Given the description of an element on the screen output the (x, y) to click on. 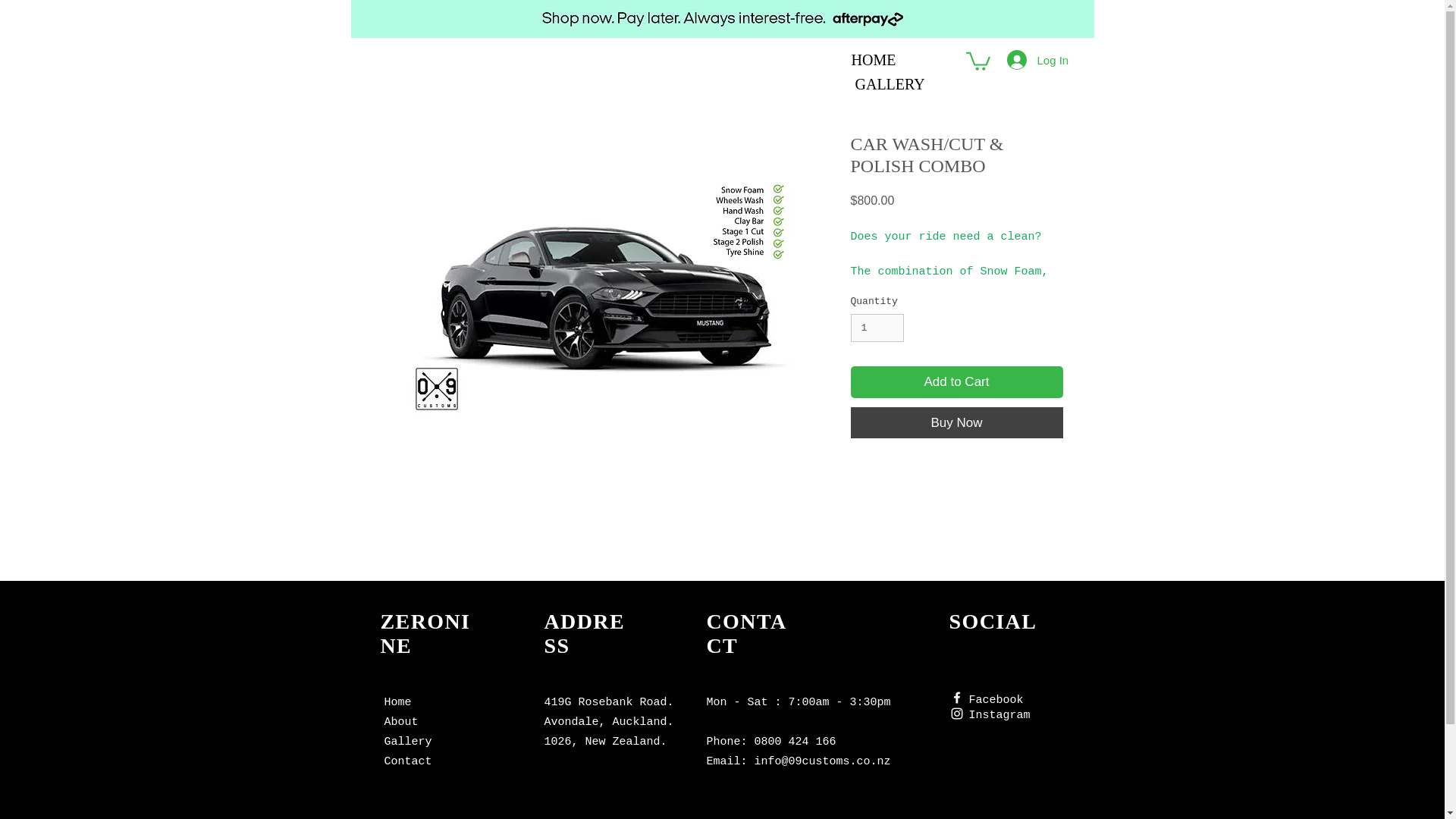
Buy Now (956, 422)
GALLERY (890, 84)
About (400, 721)
Instagram (999, 713)
Facebook (996, 698)
HOME   (872, 71)
Log In (1027, 59)
Add to Cart (956, 382)
Gallery (407, 741)
Contact (407, 761)
